Given the description of an element on the screen output the (x, y) to click on. 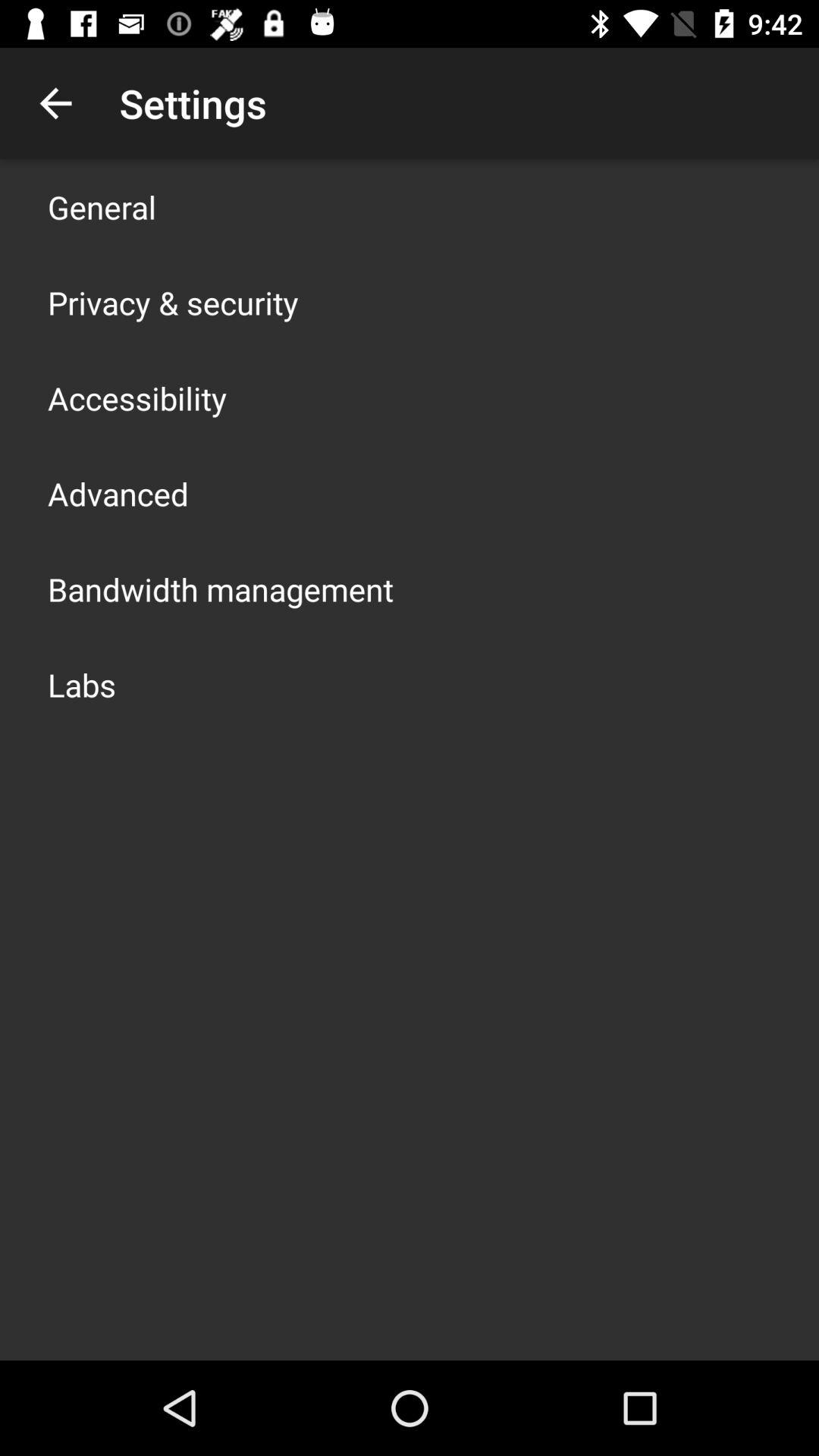
turn on icon above the general (55, 103)
